Given the description of an element on the screen output the (x, y) to click on. 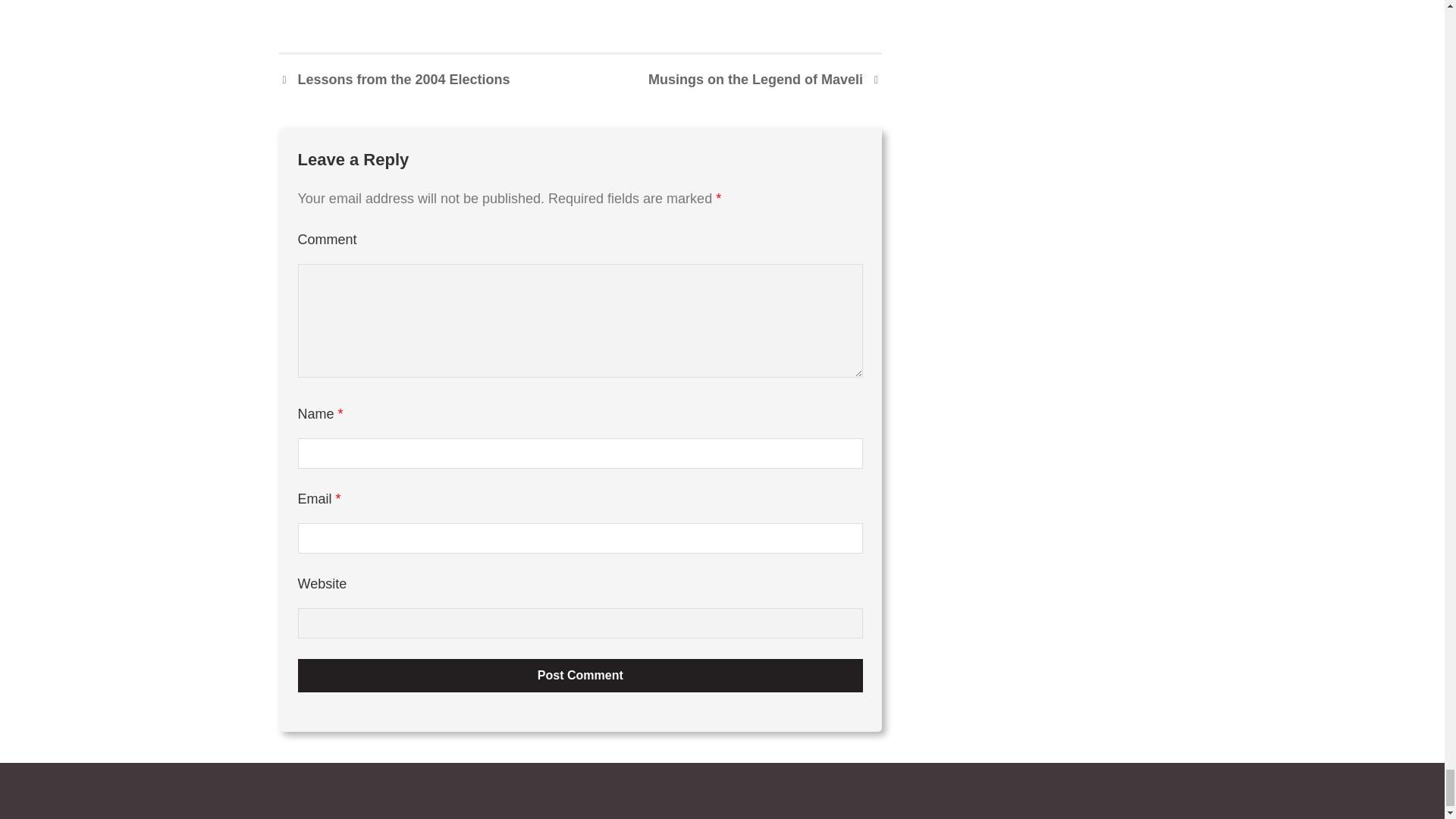
Post Comment (580, 675)
Lessons from the 2004 Elections (395, 79)
Post Comment (580, 675)
Musings on the Legend of Maveli (764, 79)
